Given the description of an element on the screen output the (x, y) to click on. 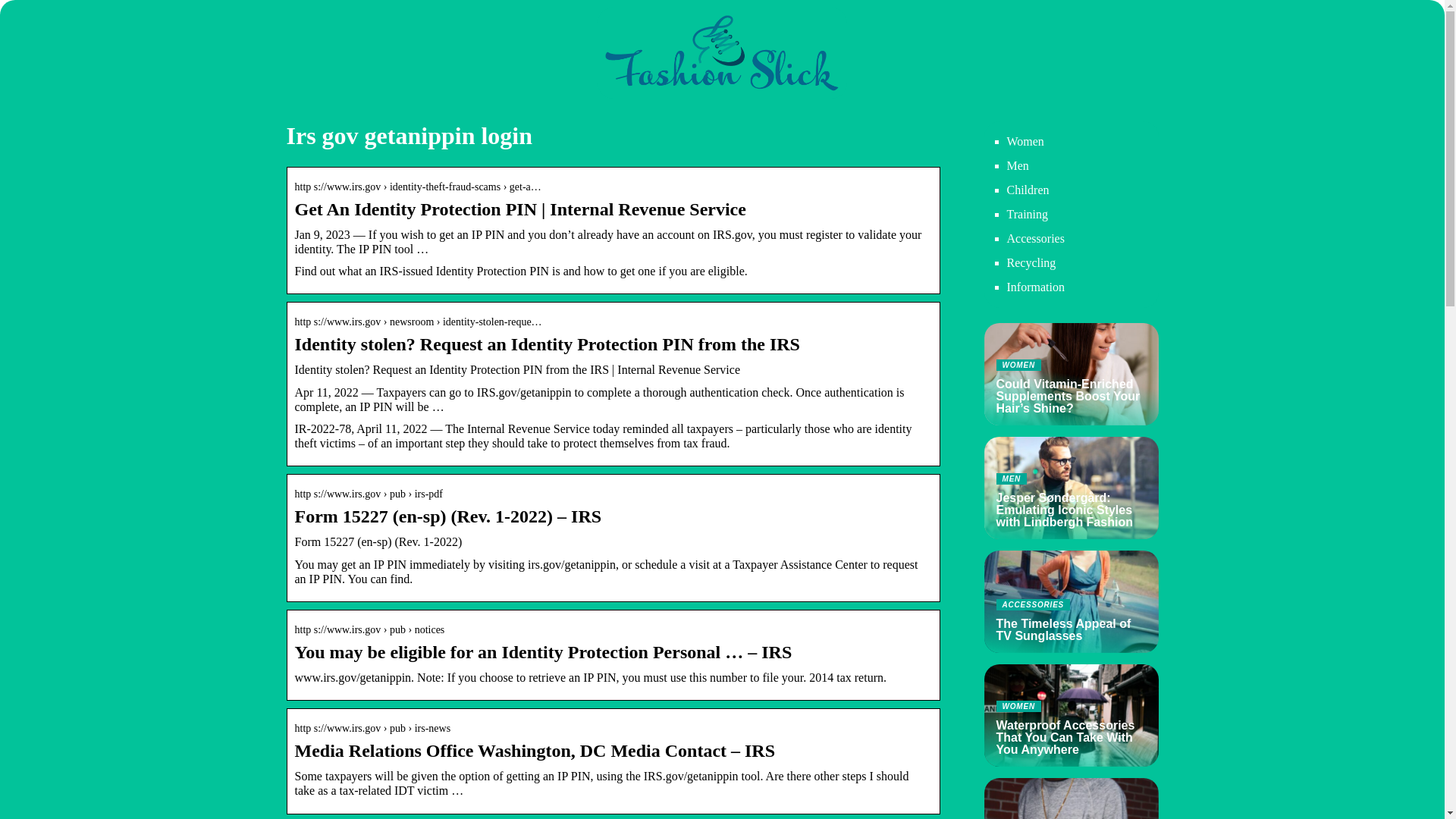
Children (1028, 189)
Training (1027, 214)
Recycling (1071, 601)
Accessories (1032, 262)
Women (1035, 237)
Men (1025, 141)
Information (1018, 164)
